Given the description of an element on the screen output the (x, y) to click on. 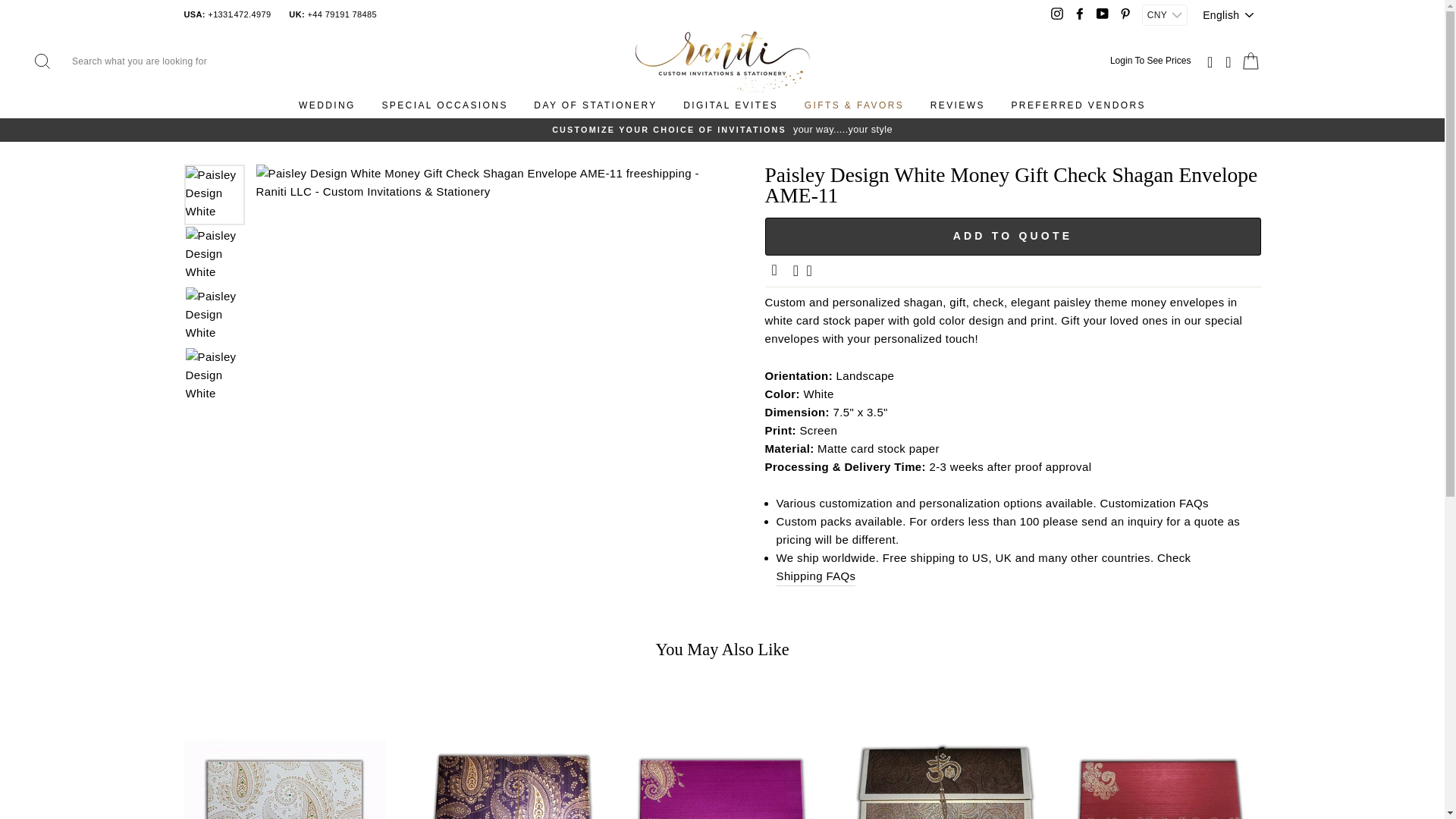
Share by Email (775, 270)
